Given the description of an element on the screen output the (x, y) to click on. 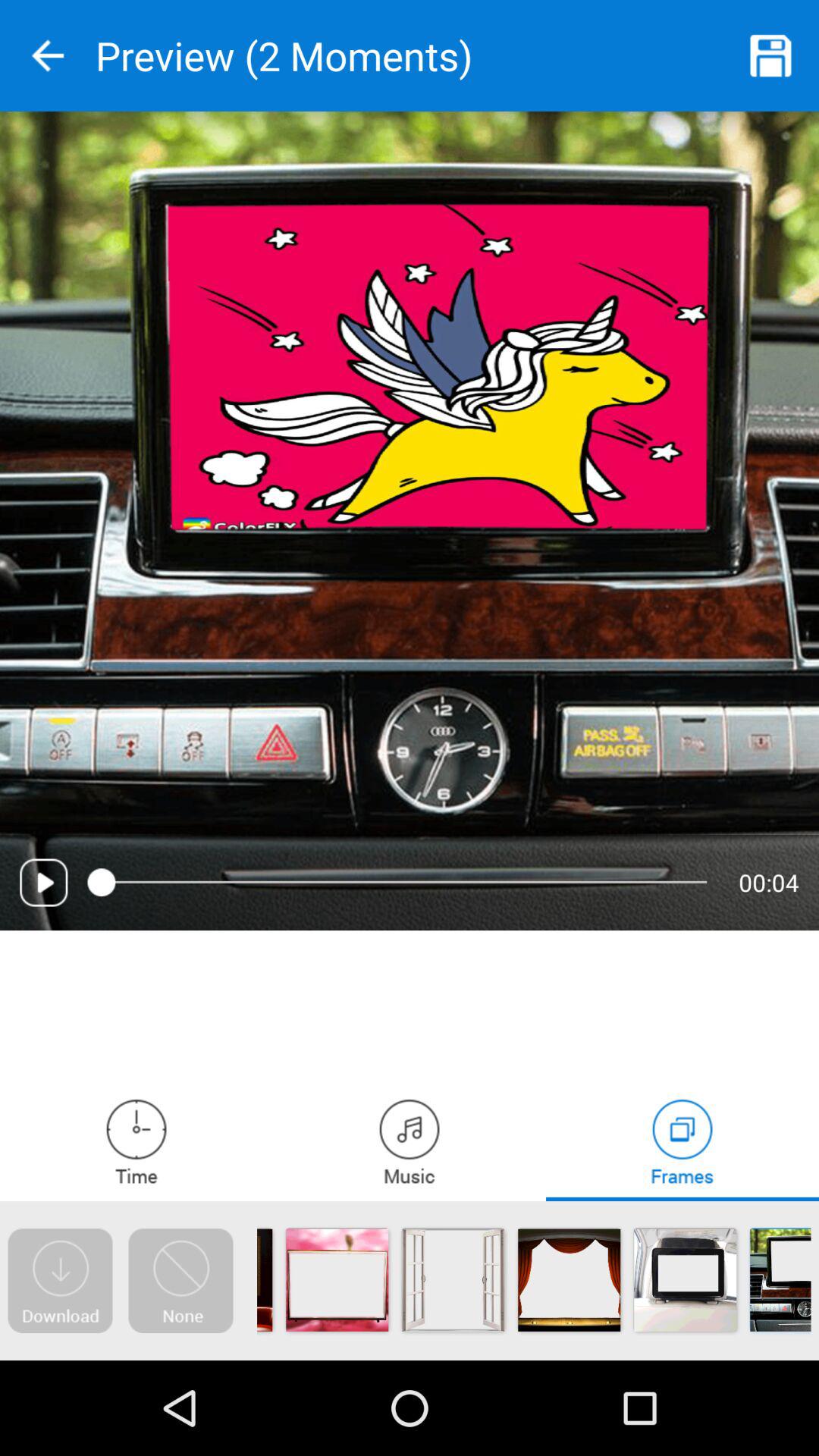
choose a frame (682, 1141)
